Given the description of an element on the screen output the (x, y) to click on. 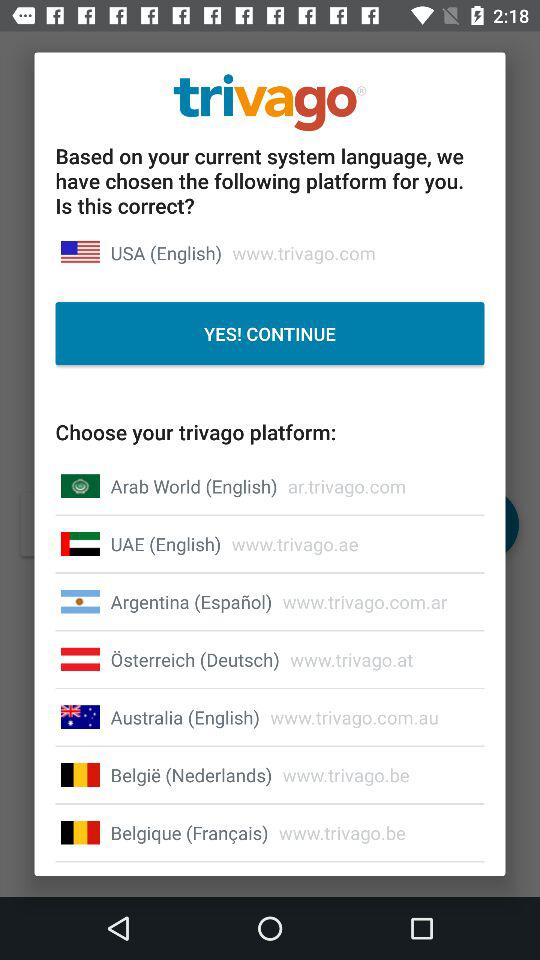
open item next to the www.trivago.be (189, 832)
